Given the description of an element on the screen output the (x, y) to click on. 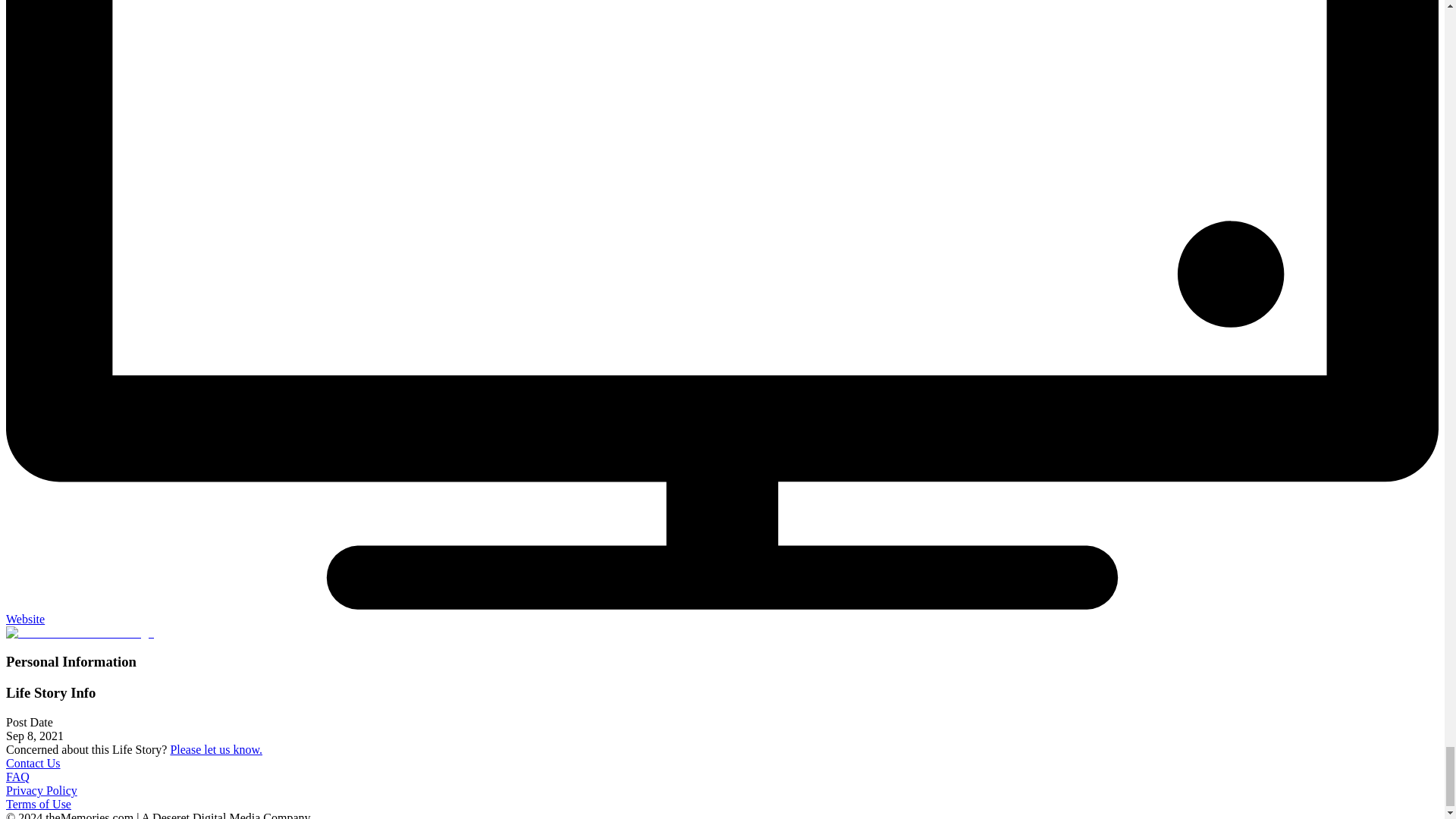
Please let us know. (216, 748)
FAQ (17, 776)
Privacy Policy (41, 789)
Contact Us (33, 762)
Website (25, 618)
Terms of Use (38, 803)
